Given the description of an element on the screen output the (x, y) to click on. 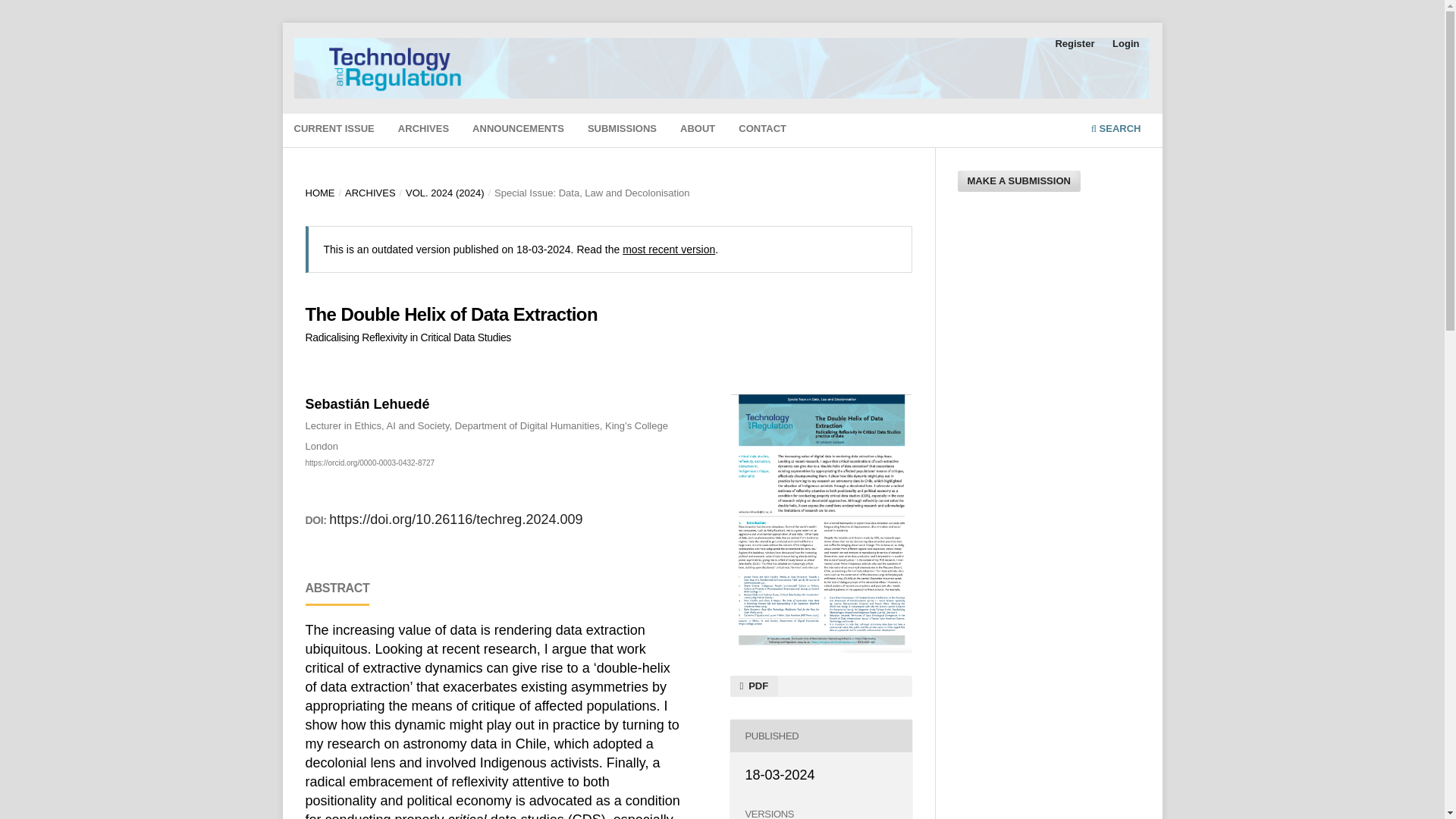
CURRENT ISSUE (333, 130)
ABOUT (697, 130)
HOME (319, 192)
Login (1126, 43)
SUBMISSIONS (621, 130)
ARCHIVES (370, 192)
PDF (753, 685)
ANNOUNCEMENTS (518, 130)
SEARCH (1115, 130)
most recent version (668, 249)
